Given the description of an element on the screen output the (x, y) to click on. 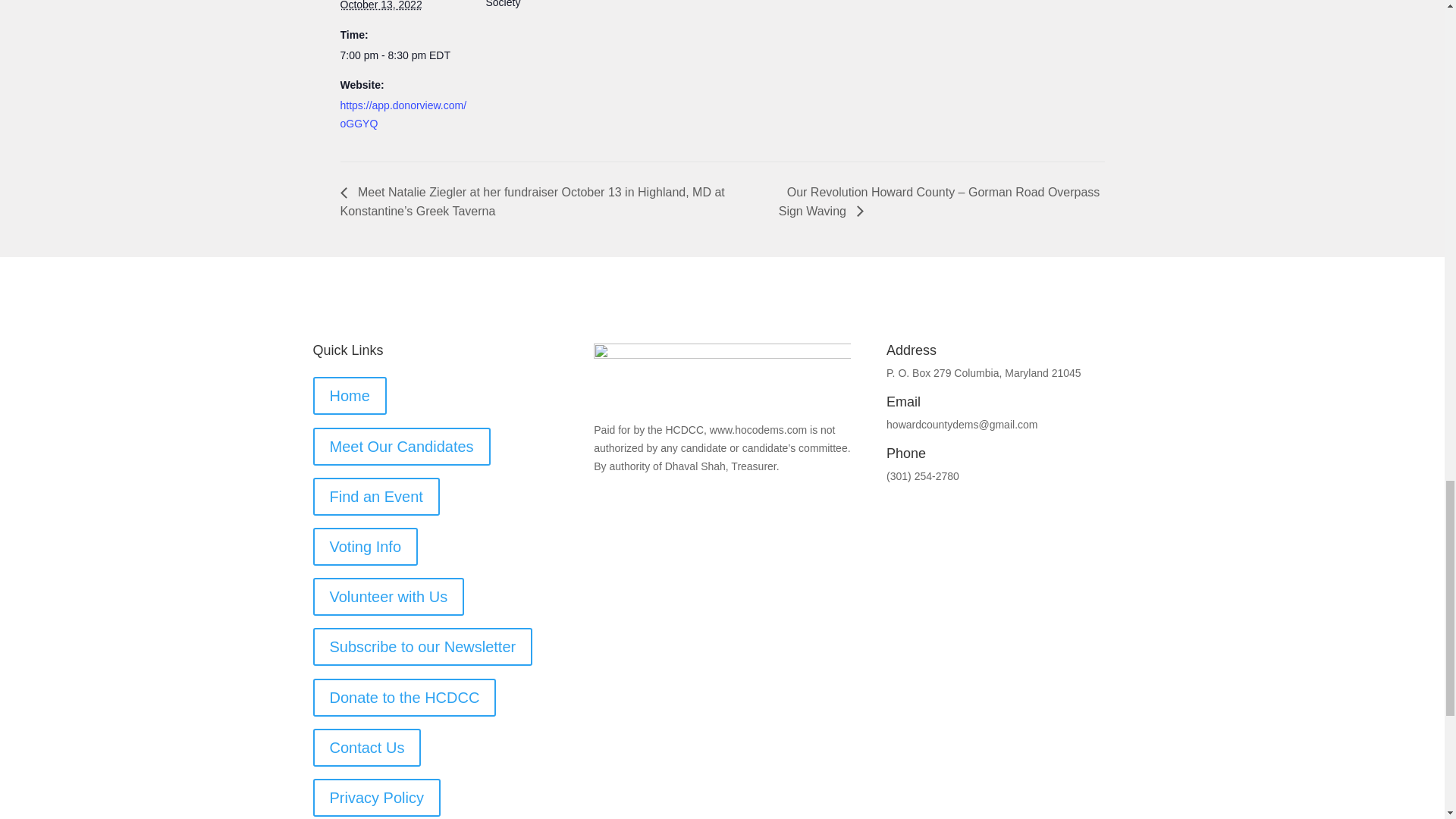
2022-10-13 (403, 55)
HCDCC-Logo-bl01 (722, 376)
2022-10-13 (380, 5)
